Given the description of an element on the screen output the (x, y) to click on. 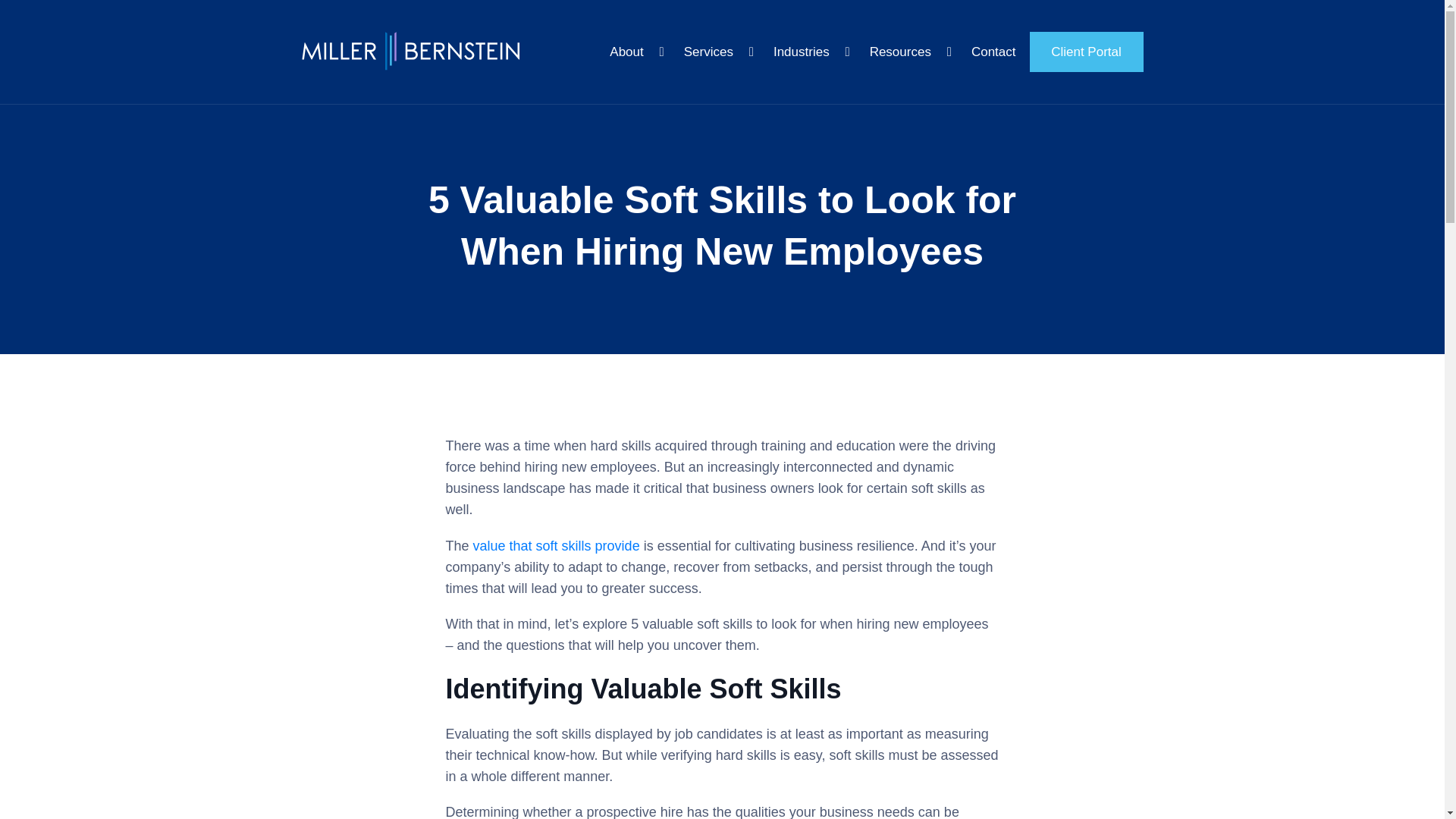
Industries (811, 52)
Resources (910, 52)
value that soft skills provide (556, 545)
About (635, 52)
Client Portal (1085, 51)
Services (718, 52)
Contact (993, 52)
